Given the description of an element on the screen output the (x, y) to click on. 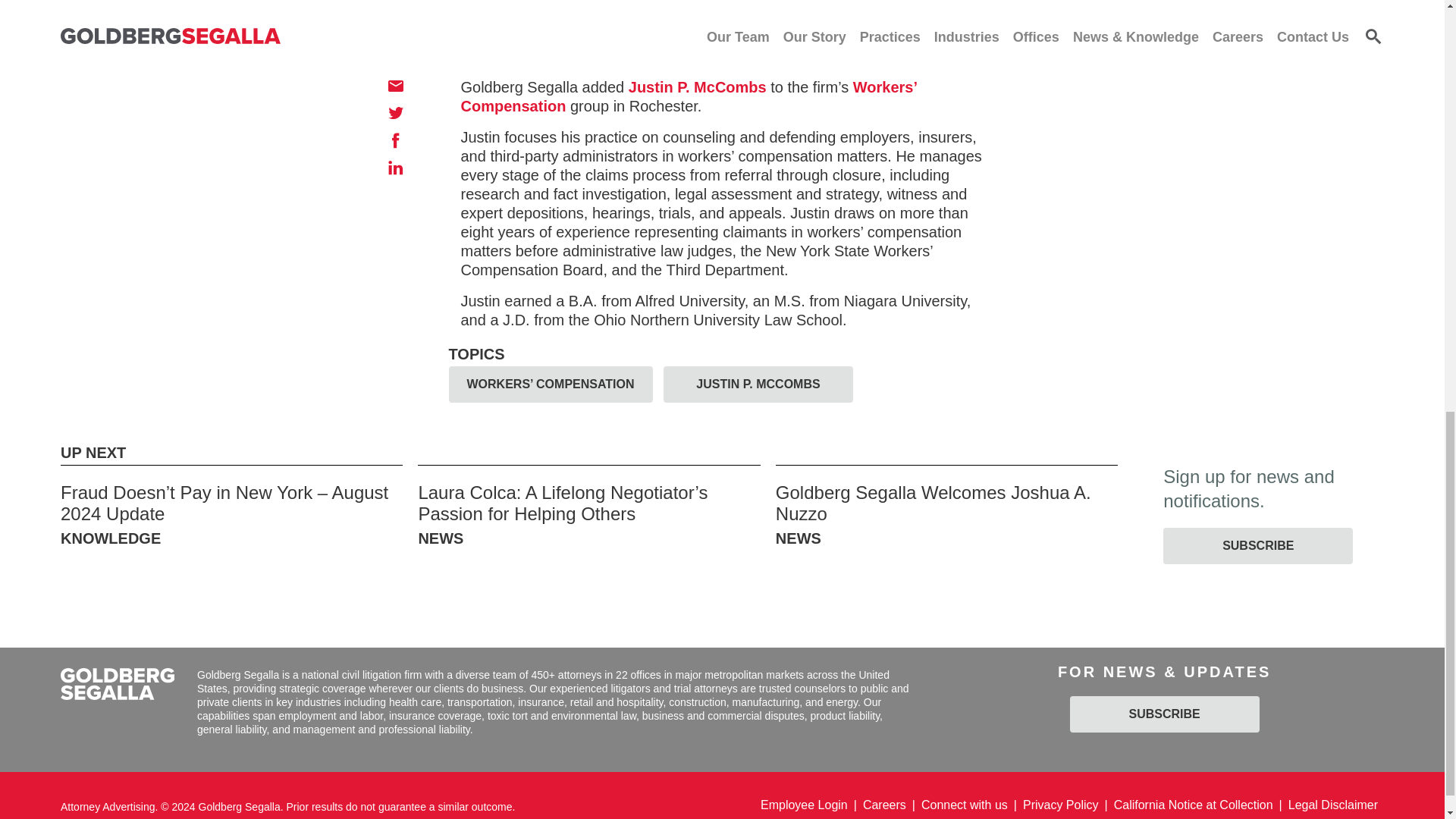
Goldberg Segalla Welcomes Joshua A. Nuzzo (933, 503)
SUBSCRIBE (1257, 545)
Employee Login (811, 804)
JUSTIN P. MCCOMBS (758, 384)
Justin P. McCombs (697, 86)
SUBSCRIBE (1164, 714)
